Given the description of an element on the screen output the (x, y) to click on. 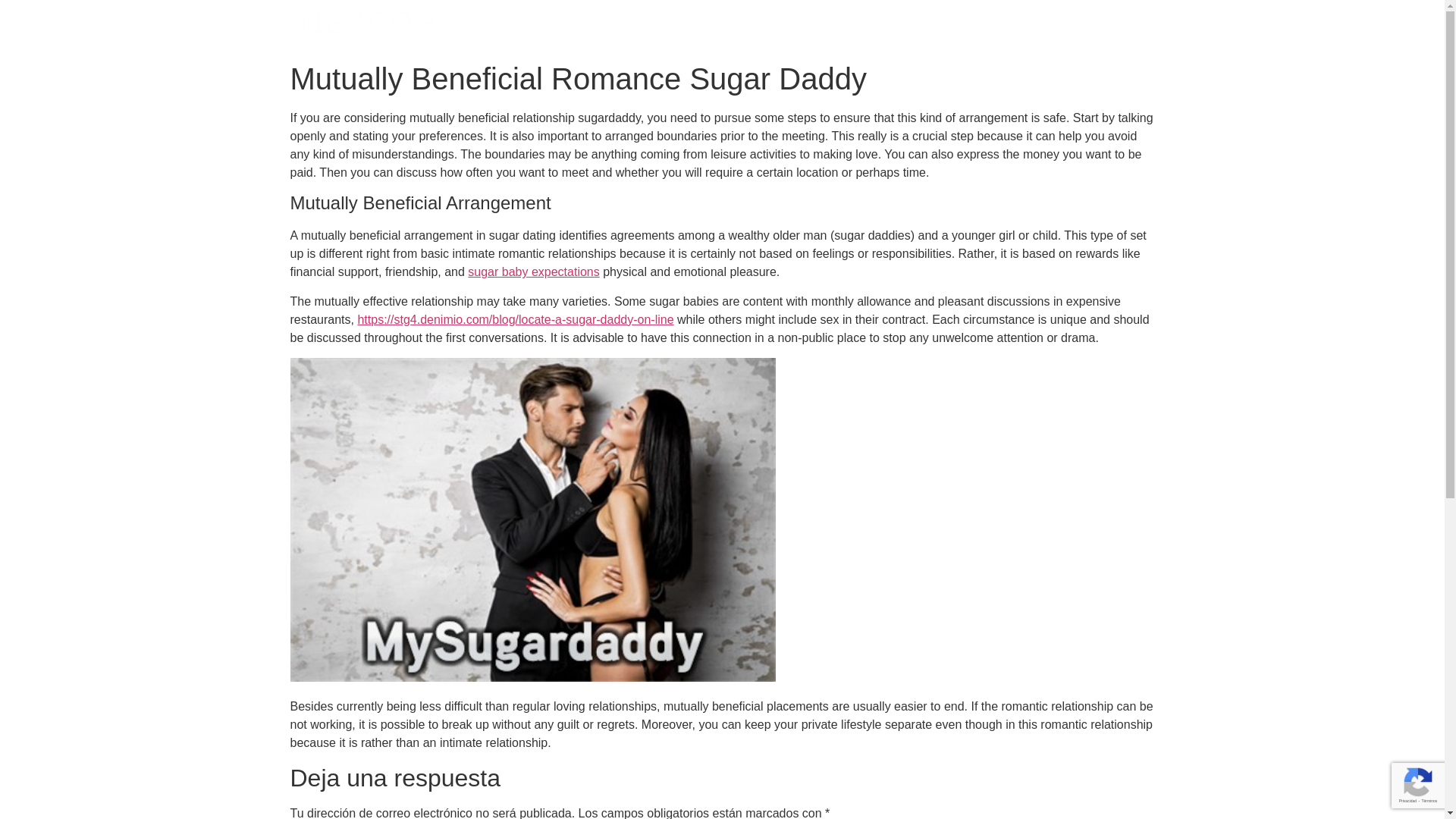
Servicios (814, 27)
Empresas (722, 27)
Oportunidad Laboral (1079, 27)
Nosotros (896, 27)
Contacto (972, 27)
Inicio (647, 27)
